Given the description of an element on the screen output the (x, y) to click on. 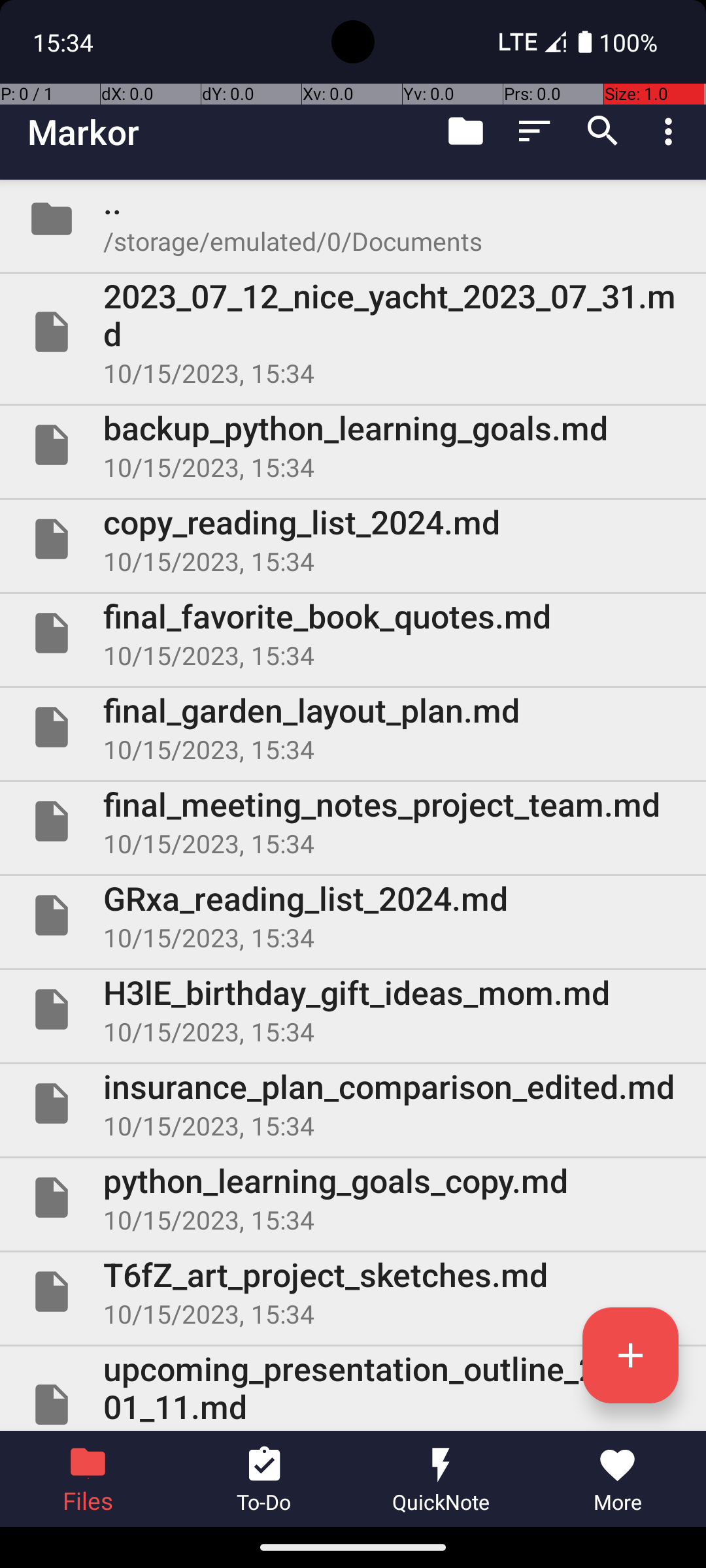
File 2023_07_12_nice_yacht_2023_07_31.md  Element type: android.widget.LinearLayout (353, 331)
File backup_python_learning_goals.md  Element type: android.widget.LinearLayout (353, 444)
File copy_reading_list_2024.md  Element type: android.widget.LinearLayout (353, 538)
File final_favorite_book_quotes.md  Element type: android.widget.LinearLayout (353, 632)
File final_garden_layout_plan.md  Element type: android.widget.LinearLayout (353, 726)
File final_meeting_notes_project_team.md  Element type: android.widget.LinearLayout (353, 821)
File GRxa_reading_list_2024.md  Element type: android.widget.LinearLayout (353, 915)
File H3lE_birthday_gift_ideas_mom.md  Element type: android.widget.LinearLayout (353, 1009)
File insurance_plan_comparison_edited.md  Element type: android.widget.LinearLayout (353, 1103)
File python_learning_goals_copy.md  Element type: android.widget.LinearLayout (353, 1197)
File T6fZ_art_project_sketches.md  Element type: android.widget.LinearLayout (353, 1291)
File upcoming_presentation_outline_2023_01_11.md  Element type: android.widget.LinearLayout (353, 1388)
